Given the description of an element on the screen output the (x, y) to click on. 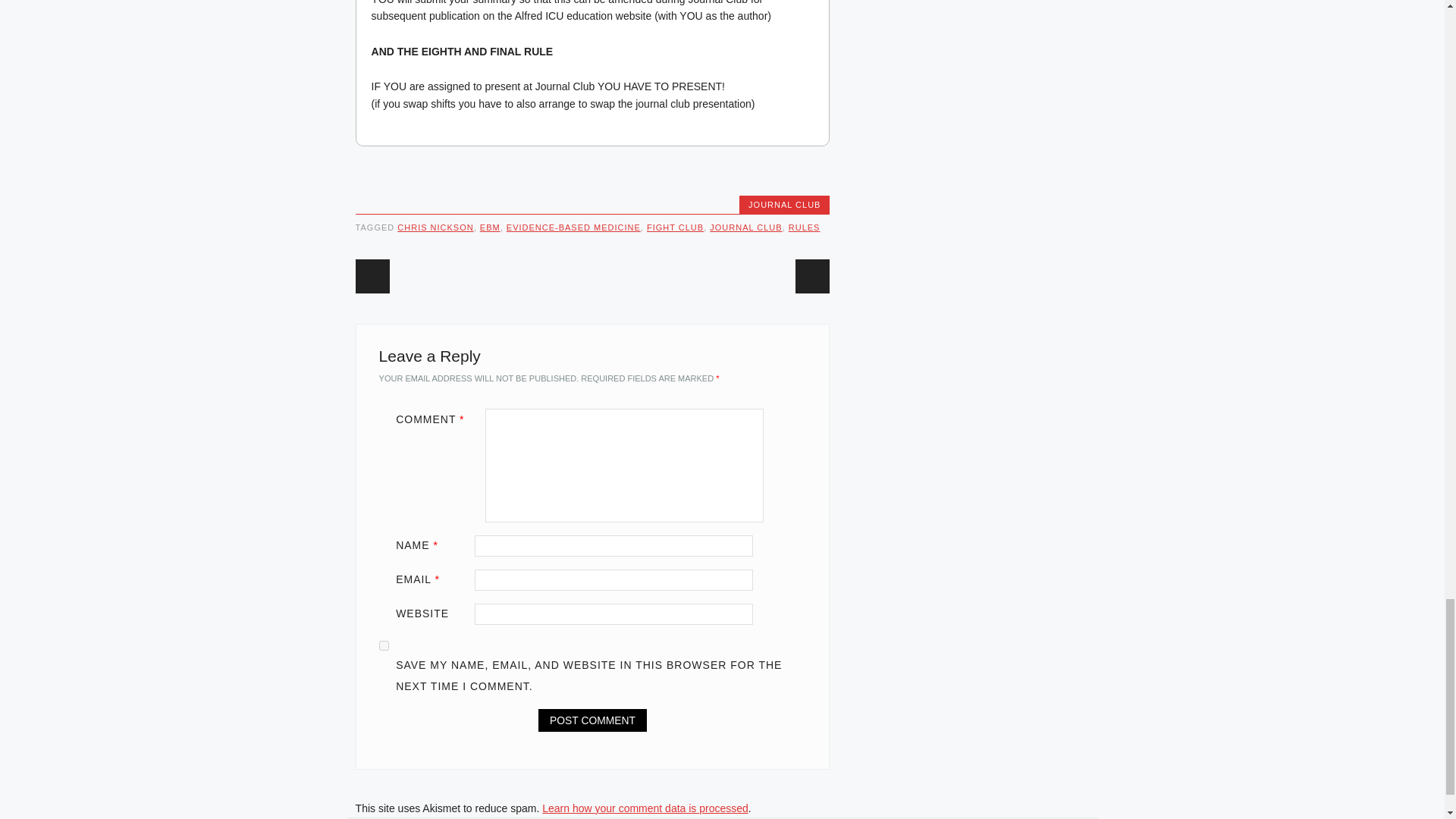
Post Comment (592, 720)
EVIDENCE-BASED MEDICINE (573, 226)
CHRIS NICKSON (435, 226)
JOURNAL CLUB (784, 204)
JOURNAL CLUB (745, 226)
Learn how your comment data is processed (644, 808)
yes (383, 645)
EBM (490, 226)
RULES (805, 226)
Post Comment (592, 720)
FIGHT CLUB (674, 226)
